Given the description of an element on the screen output the (x, y) to click on. 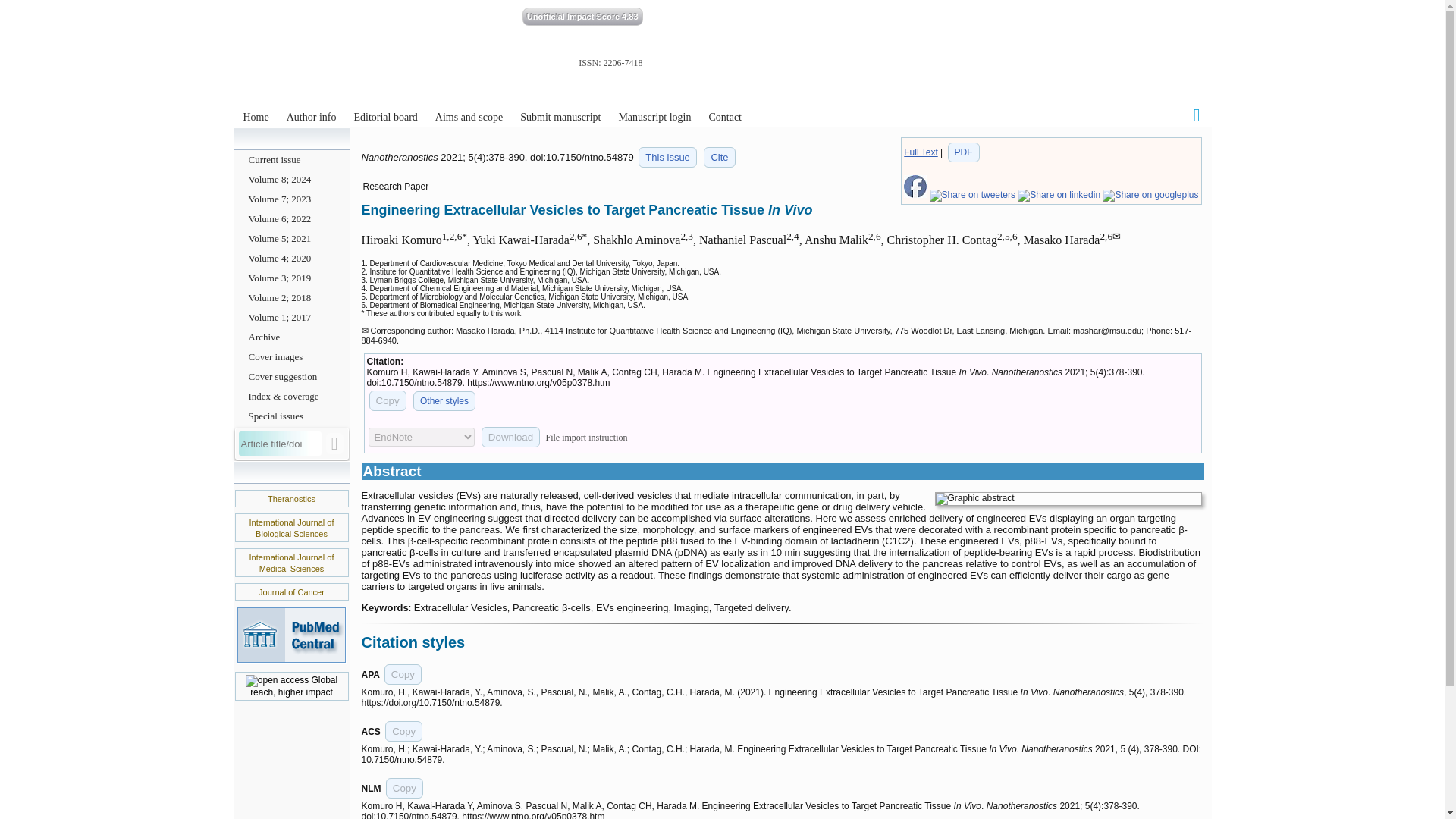
Cite (719, 157)
This issue (668, 157)
Issue 4 listing (668, 157)
Special issues (291, 415)
Cover suggestion (291, 376)
Aims and scope (469, 117)
Citation styles for this article (719, 157)
Volume 2; 2018 (291, 297)
Search article by title or doi (334, 443)
Manuscript login (654, 117)
PDF (963, 152)
Copy (403, 674)
International Journal of Medical Sciences (291, 562)
Copy to clipboard (404, 788)
Theranostics (291, 498)
